Given the description of an element on the screen output the (x, y) to click on. 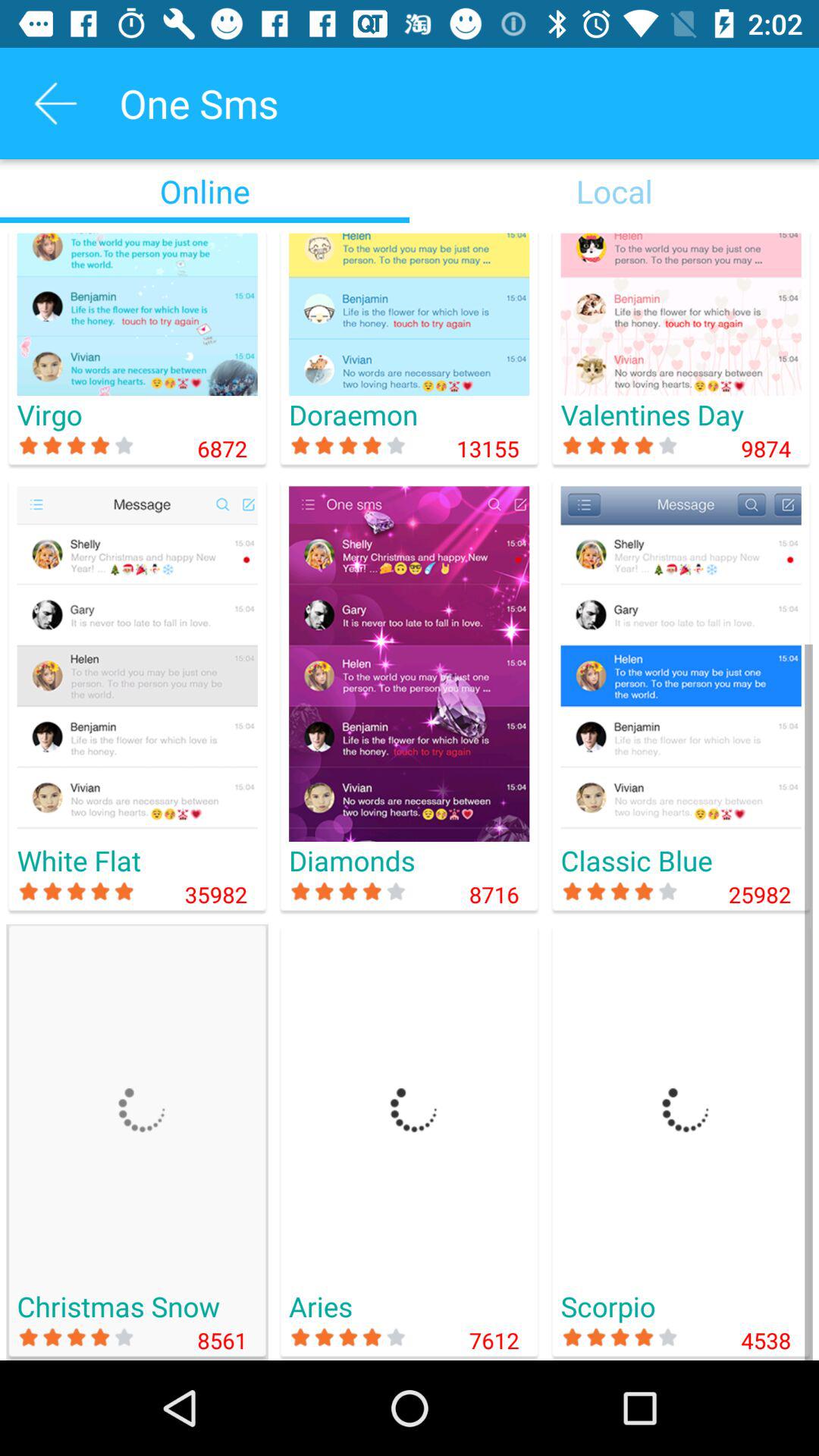
turn off the local item (614, 190)
